Given the description of an element on the screen output the (x, y) to click on. 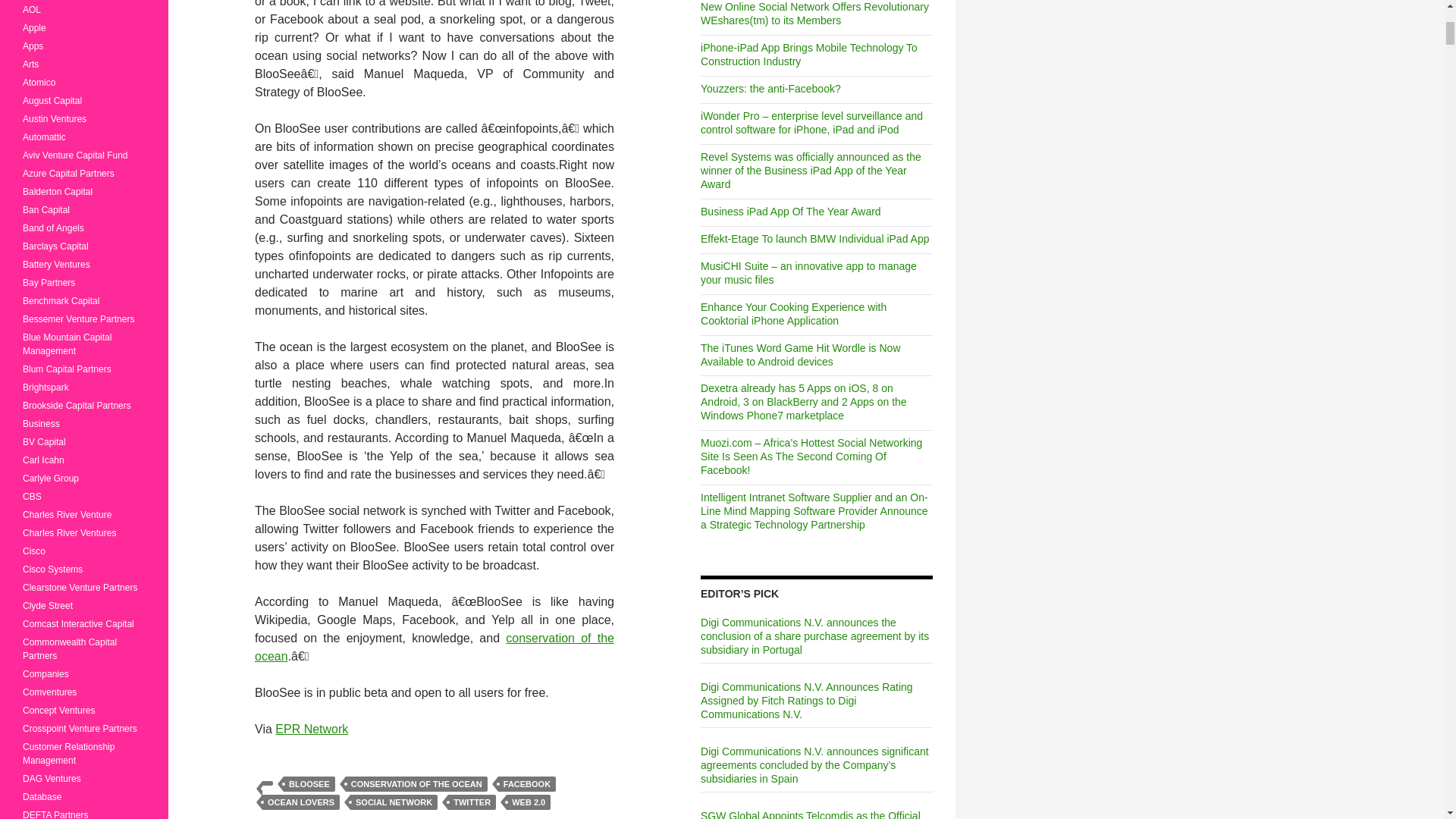
BLOOSEE (308, 783)
FACEBOOK (526, 783)
conservation of the ocean (434, 646)
TWITTER (472, 801)
OCEAN LOVERS (300, 801)
WEB 2.0 (528, 801)
SOCIAL NETWORK (394, 801)
EPR Network (311, 728)
CONSERVATION OF THE OCEAN (416, 783)
